Given the description of an element on the screen output the (x, y) to click on. 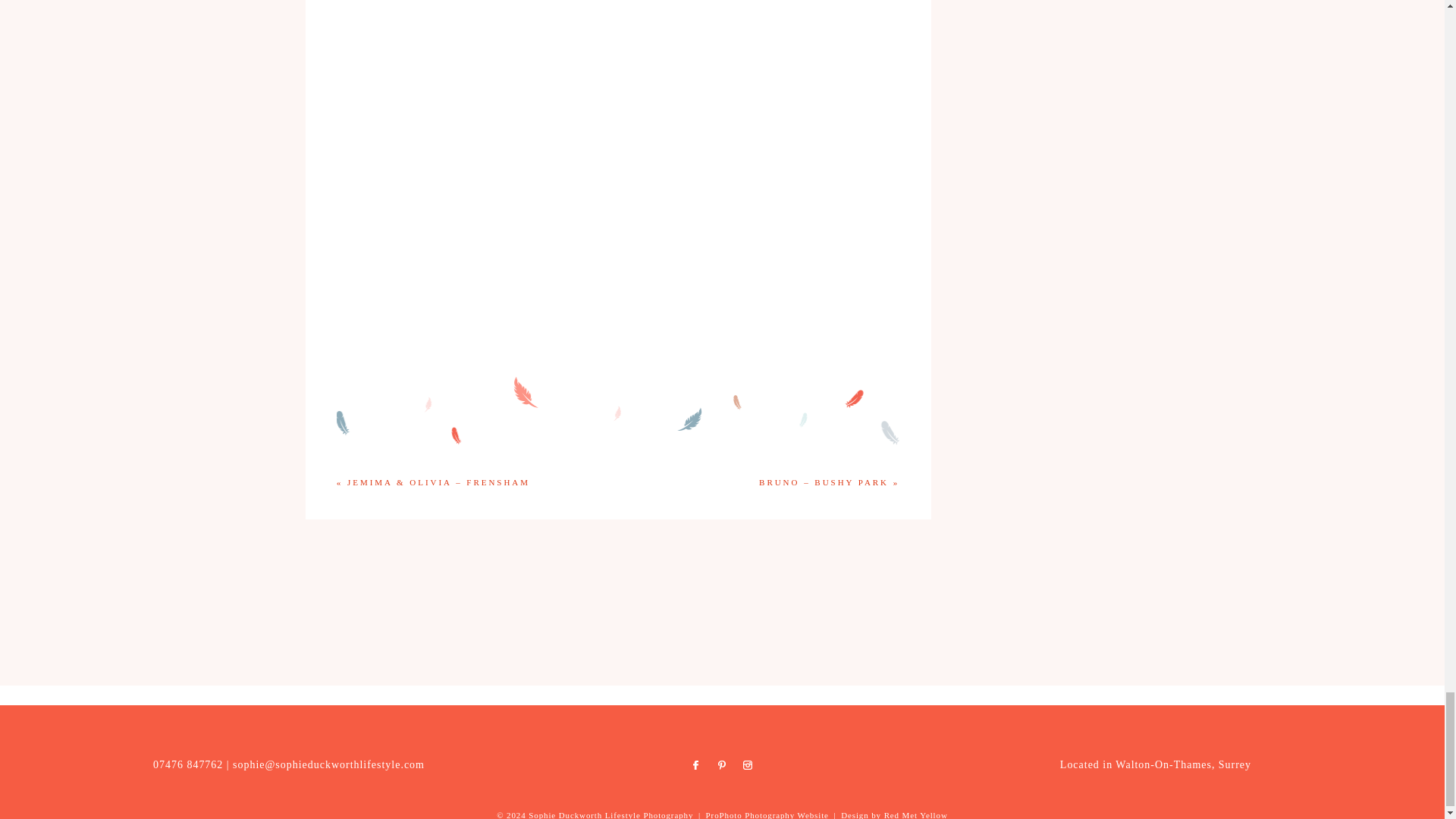
ProPhoto Photography Website (767, 814)
ProPhoto Photography Website (767, 814)
Red Met Yellow (915, 814)
